Given the description of an element on the screen output the (x, y) to click on. 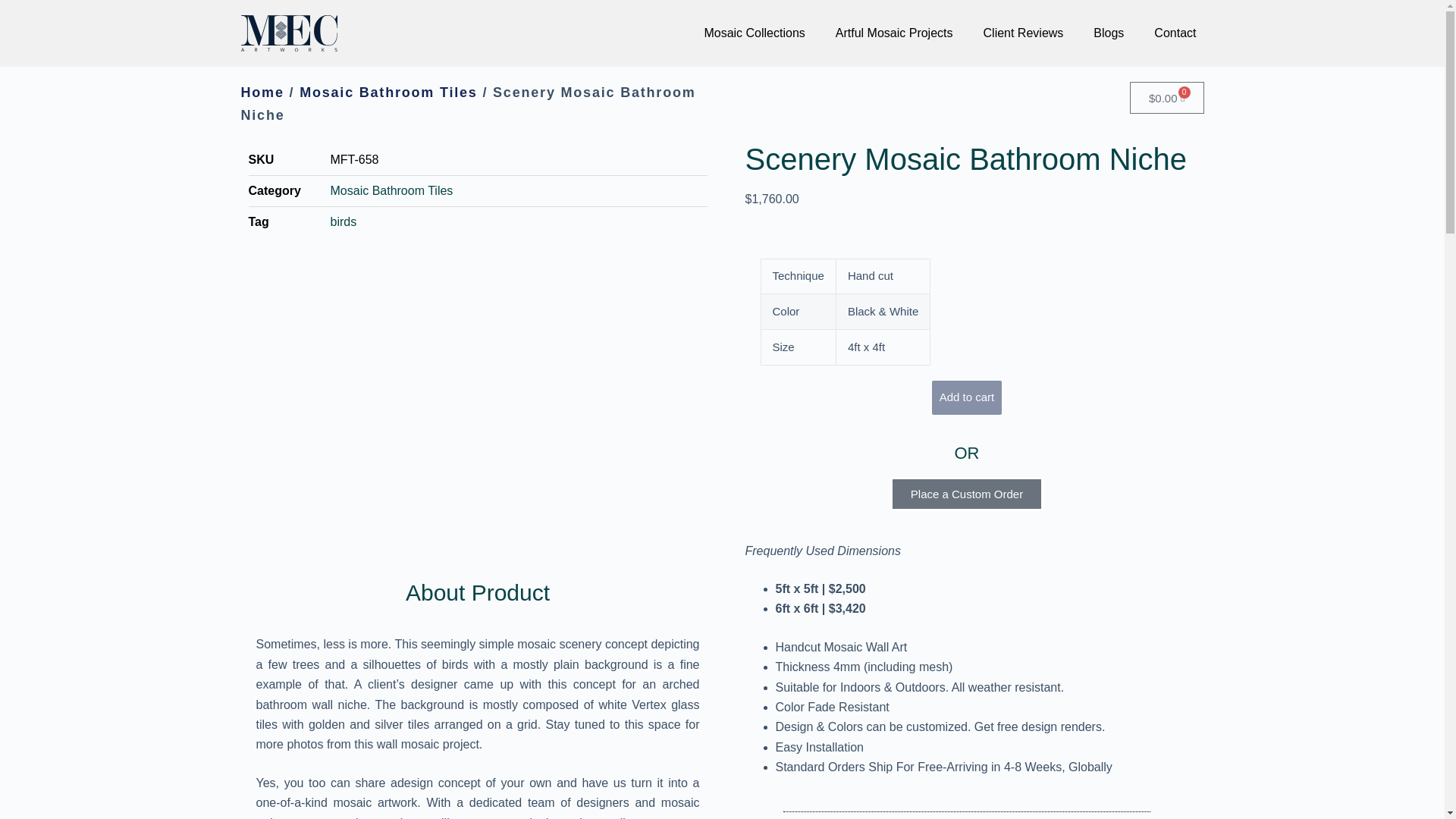
Contact (1174, 32)
Blogs (1108, 32)
Artful Mosaic Projects (894, 32)
Skip to content (15, 7)
Client Reviews (1023, 32)
Mosaic Collections (753, 32)
